Given the description of an element on the screen output the (x, y) to click on. 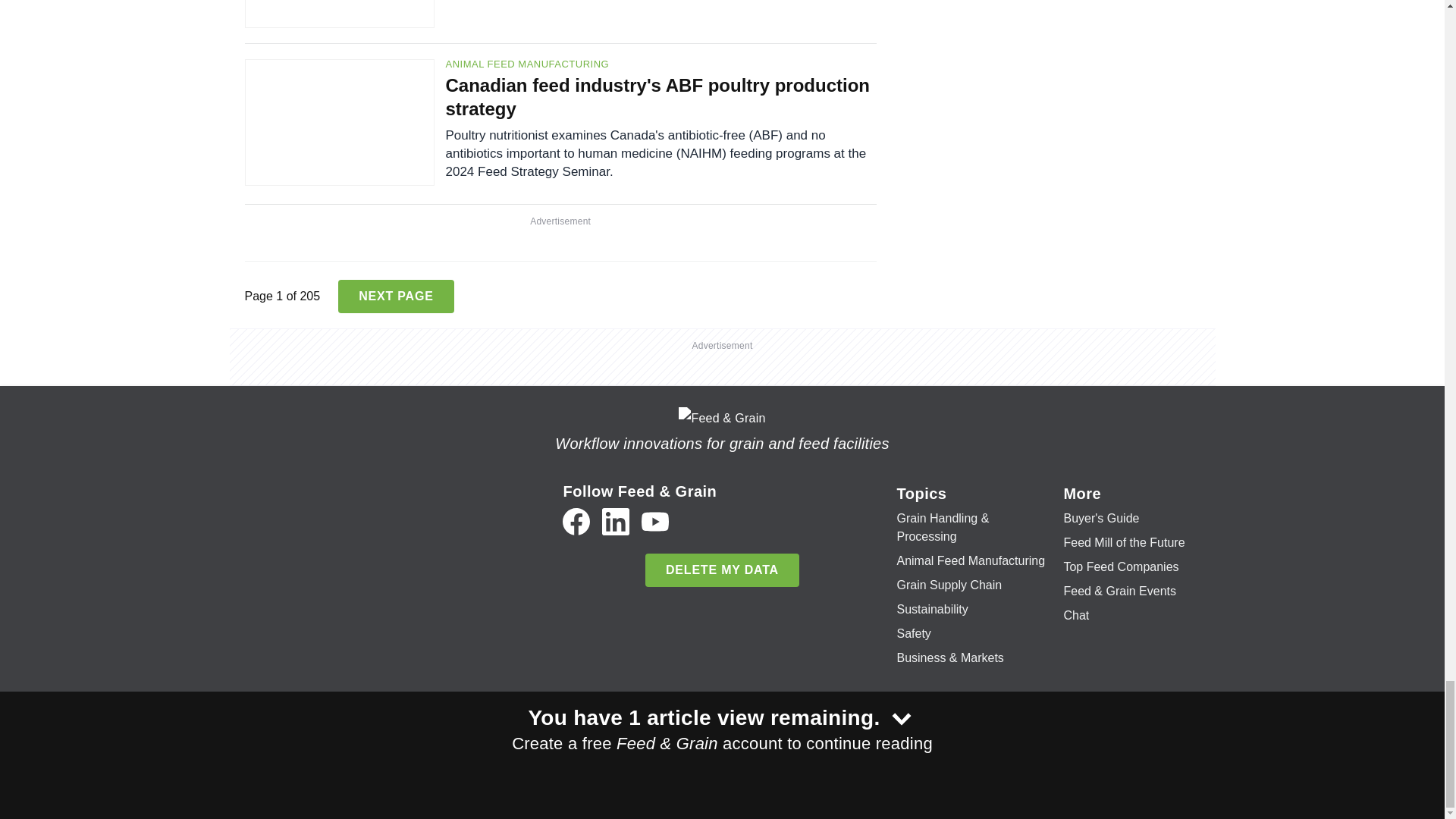
LinkedIn icon (615, 521)
YouTube icon (655, 521)
Facebook icon (575, 521)
